Given the description of an element on the screen output the (x, y) to click on. 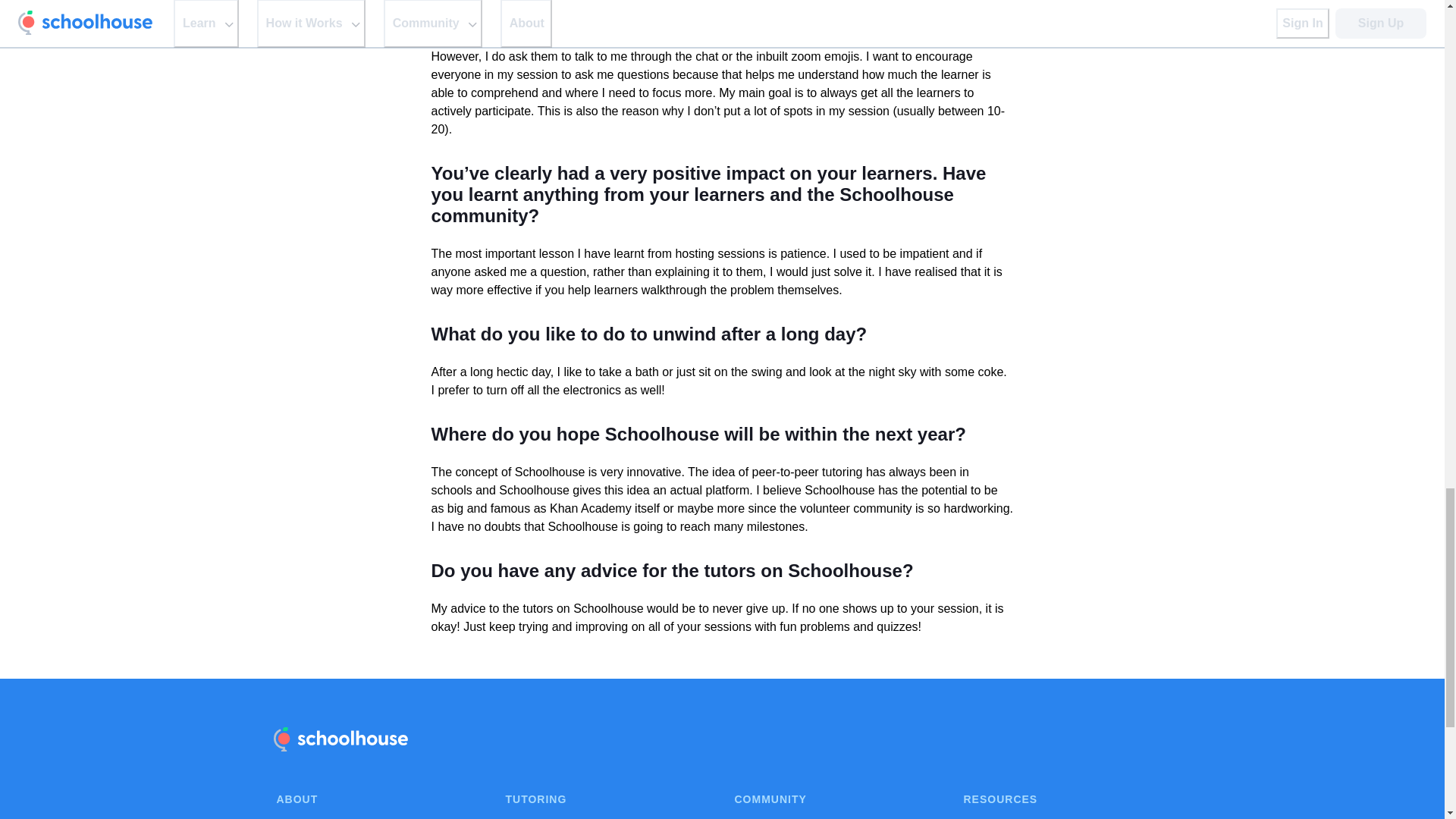
Schoolhouse.world: peer tutoring, for free. (340, 739)
